Given the description of an element on the screen output the (x, y) to click on. 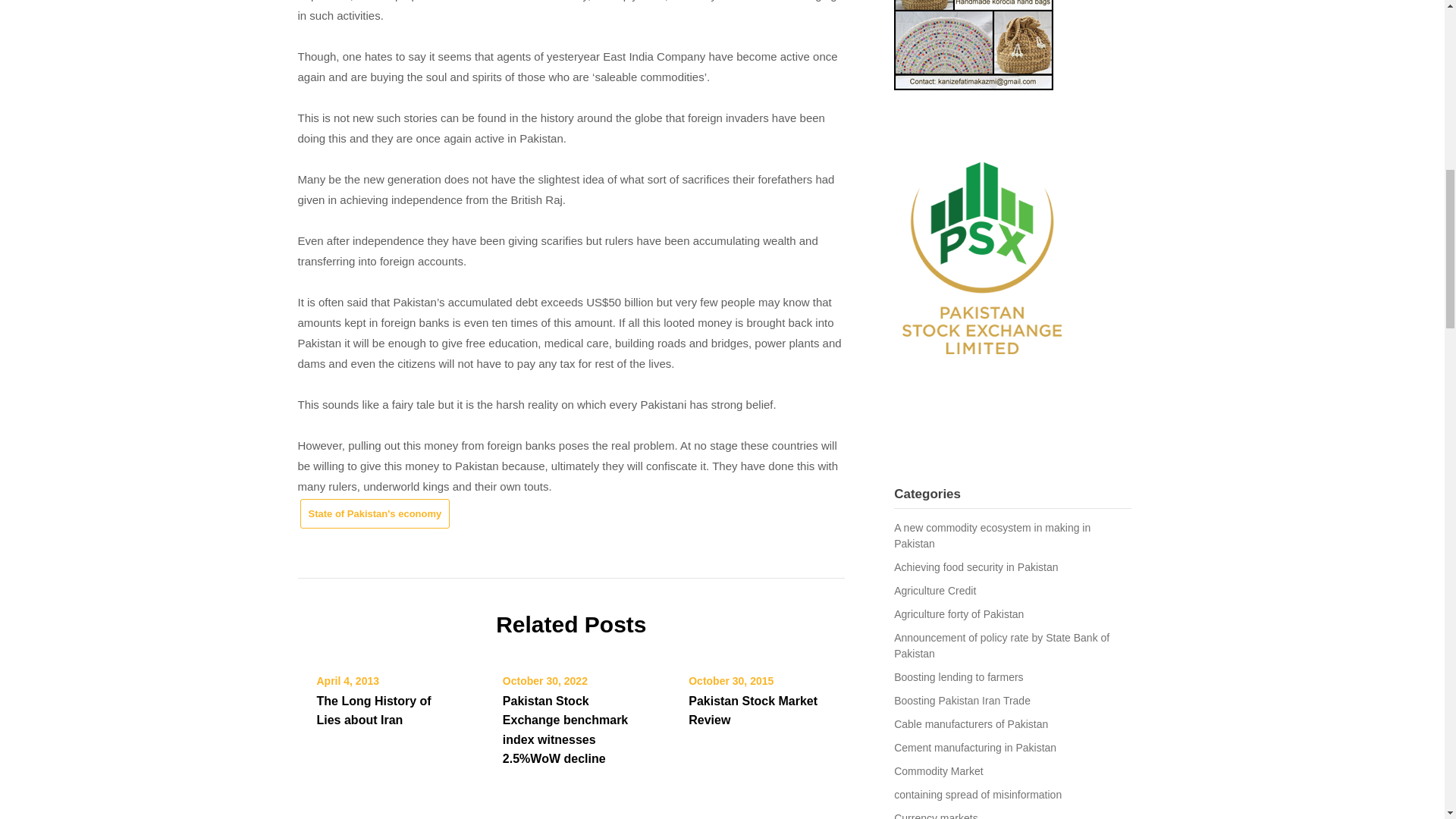
Cement manufacturing in Pakistan (975, 747)
Announcement of policy rate by State Bank of Pakistan (1001, 645)
A new commodity ecosystem in making in Pakistan (991, 535)
containing spread of misinformation (977, 794)
Agriculture Credit (934, 590)
Currency markets (934, 815)
Achieving food security in Pakistan (975, 567)
Agriculture forty of Pakistan (958, 613)
The Long History of Lies about Iran (373, 710)
Commodity Market (937, 770)
State of Pakistan's economy (374, 513)
Cable manufacturers of Pakistan (970, 724)
Boosting lending to farmers (958, 676)
Boosting Pakistan Iran Trade (961, 700)
Pakistan Stock Market Review (752, 710)
